Given the description of an element on the screen output the (x, y) to click on. 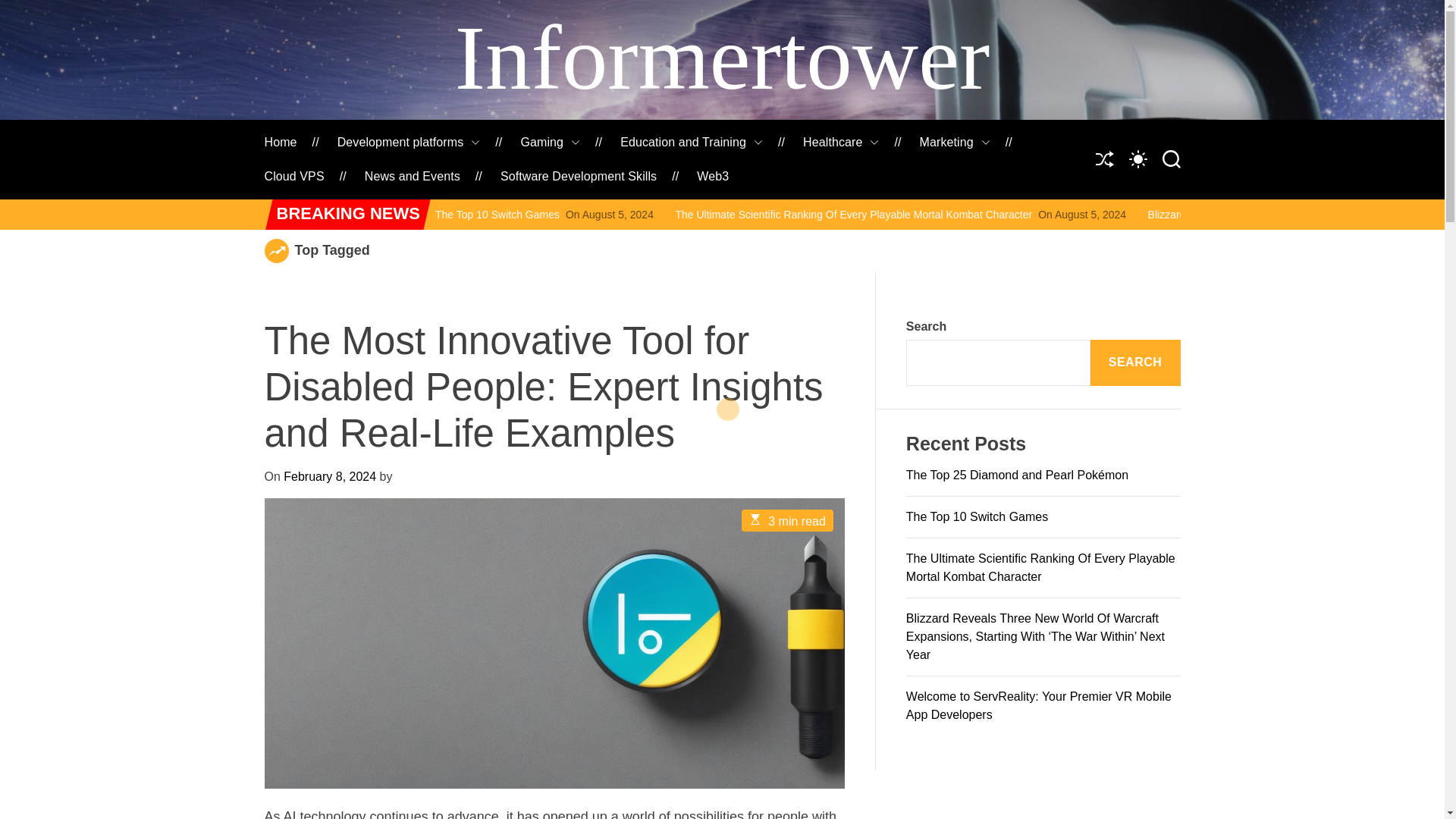
Informertower (722, 58)
Home (280, 142)
Education and Training (691, 142)
Healthcare (841, 142)
Gaming (549, 142)
Development platforms (408, 142)
